Given the description of an element on the screen output the (x, y) to click on. 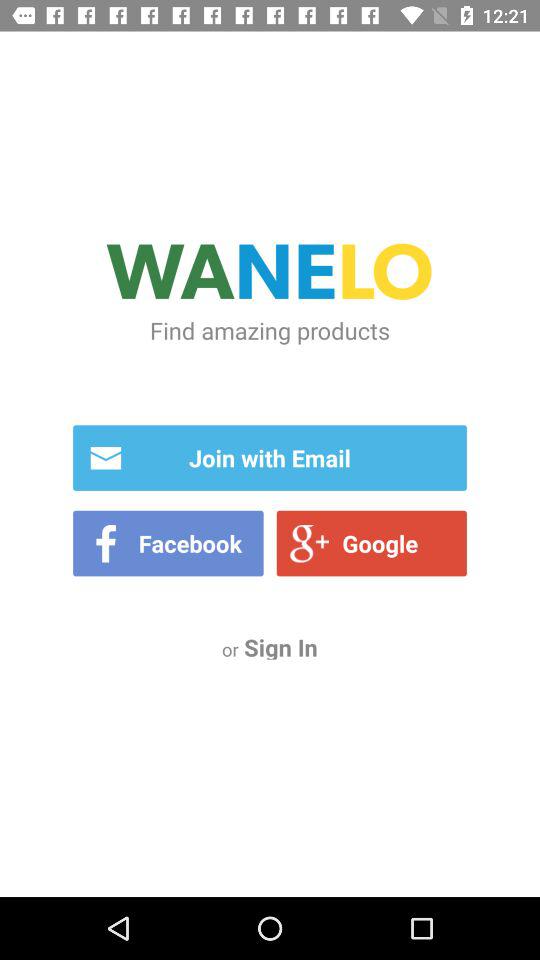
press item above find amazing products icon (269, 274)
